Given the description of an element on the screen output the (x, y) to click on. 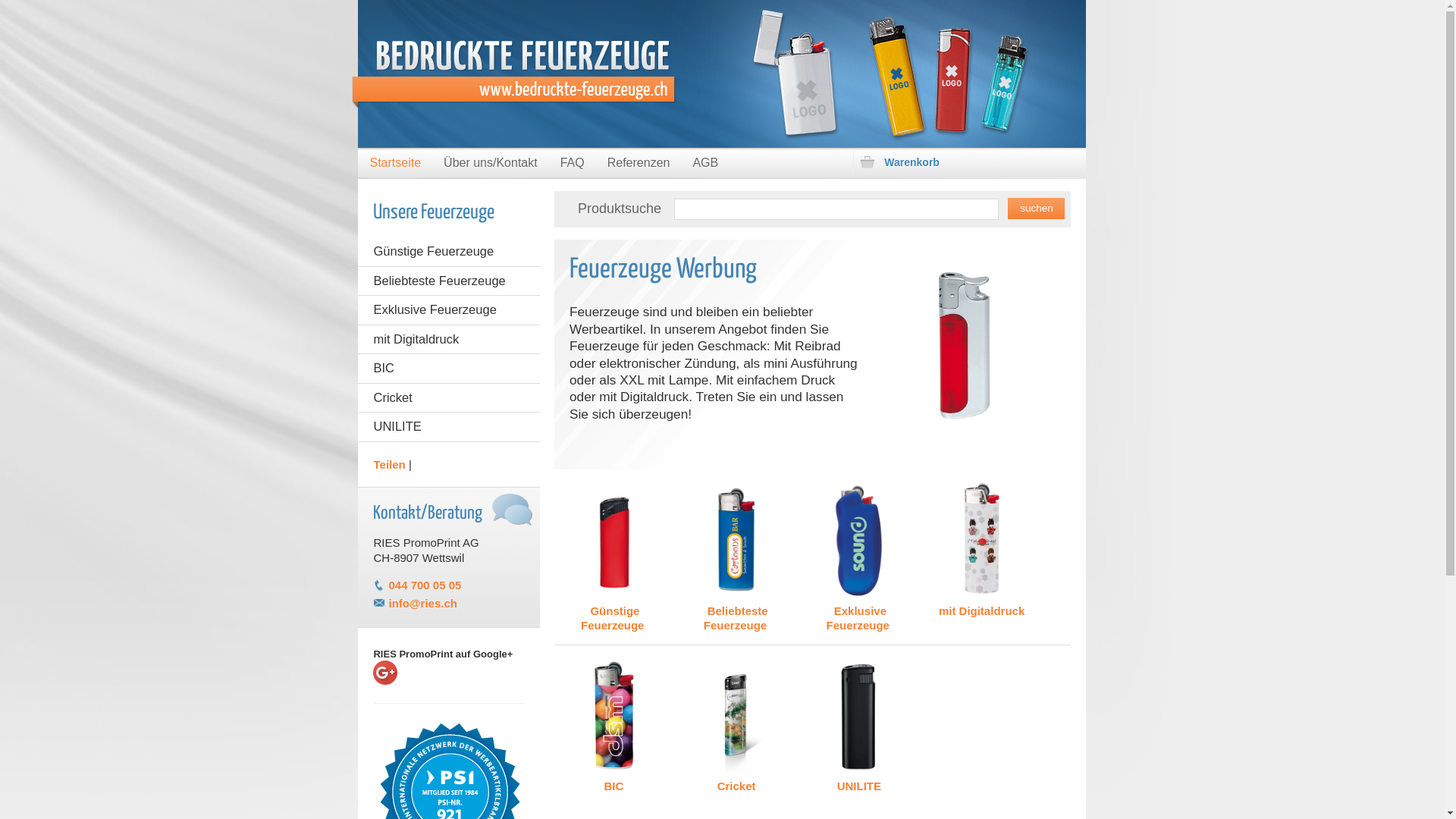
Warenkorb Element type: text (966, 162)
FAQ Element type: text (572, 163)
Beliebteste Feuerzeuge Element type: text (448, 280)
Cricket Element type: text (736, 724)
BIC Element type: text (613, 724)
UNILITE Element type: text (858, 724)
suchen Element type: text (1035, 208)
mit Digitaldruck Element type: text (448, 339)
Referenzen Element type: text (638, 163)
AGB Element type: text (704, 163)
Exklusive Feuerzeuge Element type: text (448, 309)
Startseite Element type: text (394, 163)
info@ries.ch Element type: text (422, 602)
Exklusive Feuerzeuge Element type: text (858, 557)
UNILITE Element type: text (448, 426)
Beliebteste Feuerzeuge Element type: text (736, 557)
044 700 05 05 Element type: text (424, 584)
RIES PromoPrint auf Google+ Element type: text (448, 683)
Teilen Element type: text (388, 464)
BIC Element type: text (448, 368)
Cricket Element type: text (448, 397)
mit Digitaldruck Element type: text (981, 549)
